Given the description of an element on the screen output the (x, y) to click on. 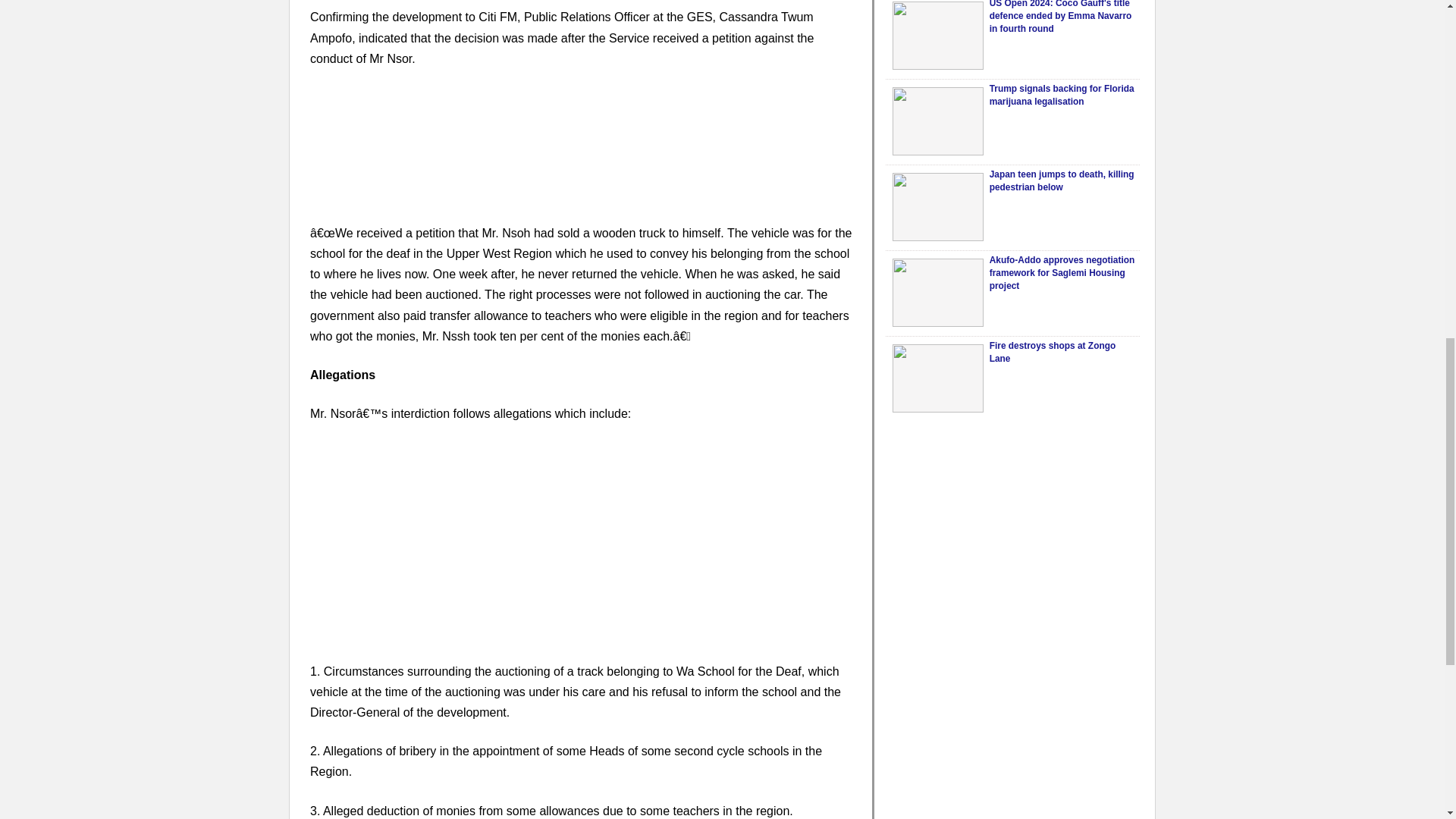
Trump signals backing for Florida marijuana legalisation (938, 120)
Trump signals backing for Florida marijuana legalisation (1062, 95)
Japan teen jumps to death, killing pedestrian below (1062, 180)
Fire destroys shops at Zongo Lane (1053, 351)
